Given the description of an element on the screen output the (x, y) to click on. 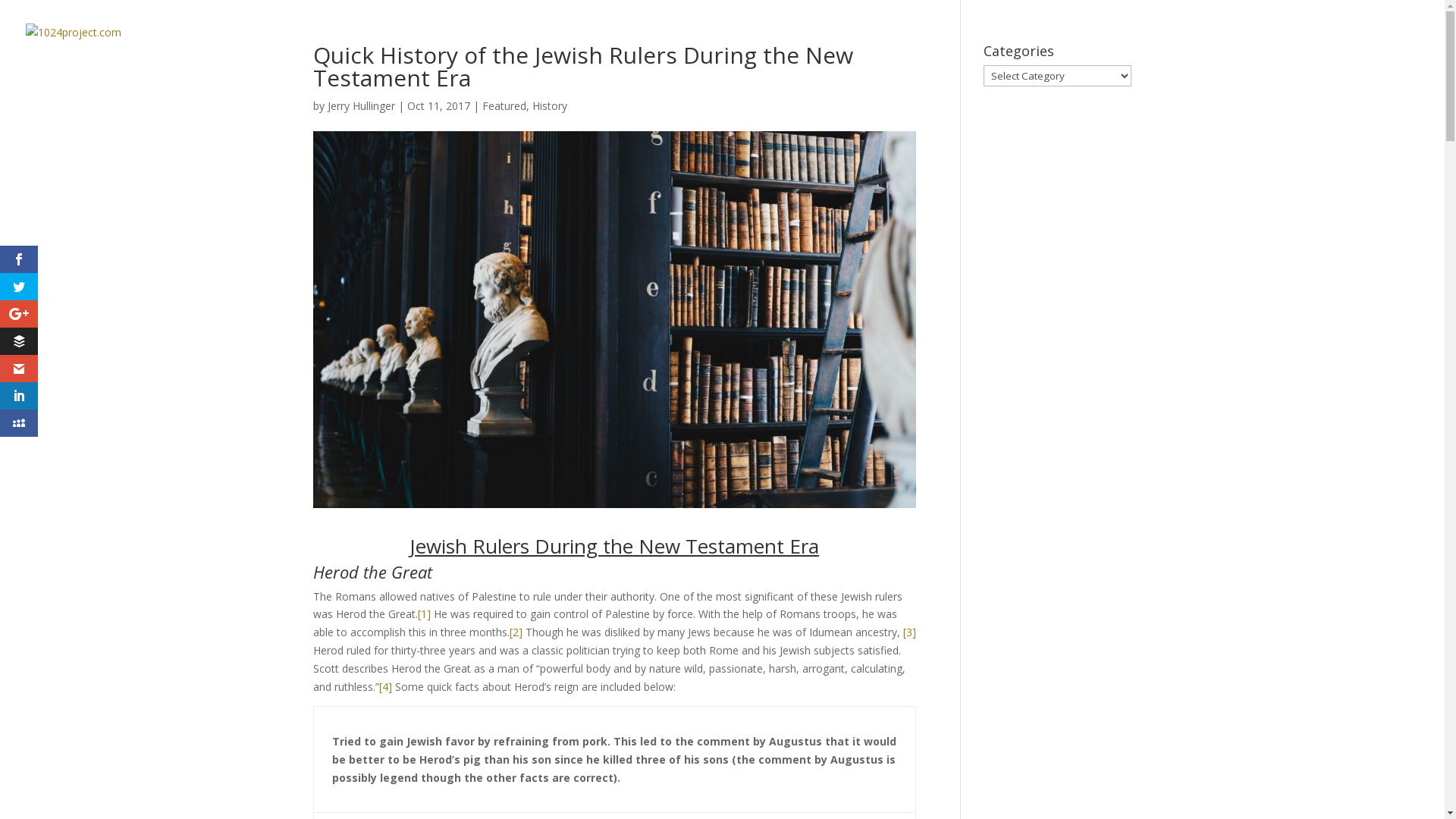
Subscribe Element type: text (1253, 50)
Featured Element type: text (504, 105)
Home Element type: text (947, 50)
History Element type: text (549, 105)
About Element type: text (1110, 50)
Jerry Hullinger Element type: text (361, 105)
[2] Element type: text (515, 631)
Podcasts Element type: text (1028, 50)
[3] Element type: text (908, 631)
[1] Element type: text (423, 613)
[4] Element type: text (385, 686)
Contact Us Element type: text (1349, 50)
Series Element type: text (1175, 50)
